Given the description of an element on the screen output the (x, y) to click on. 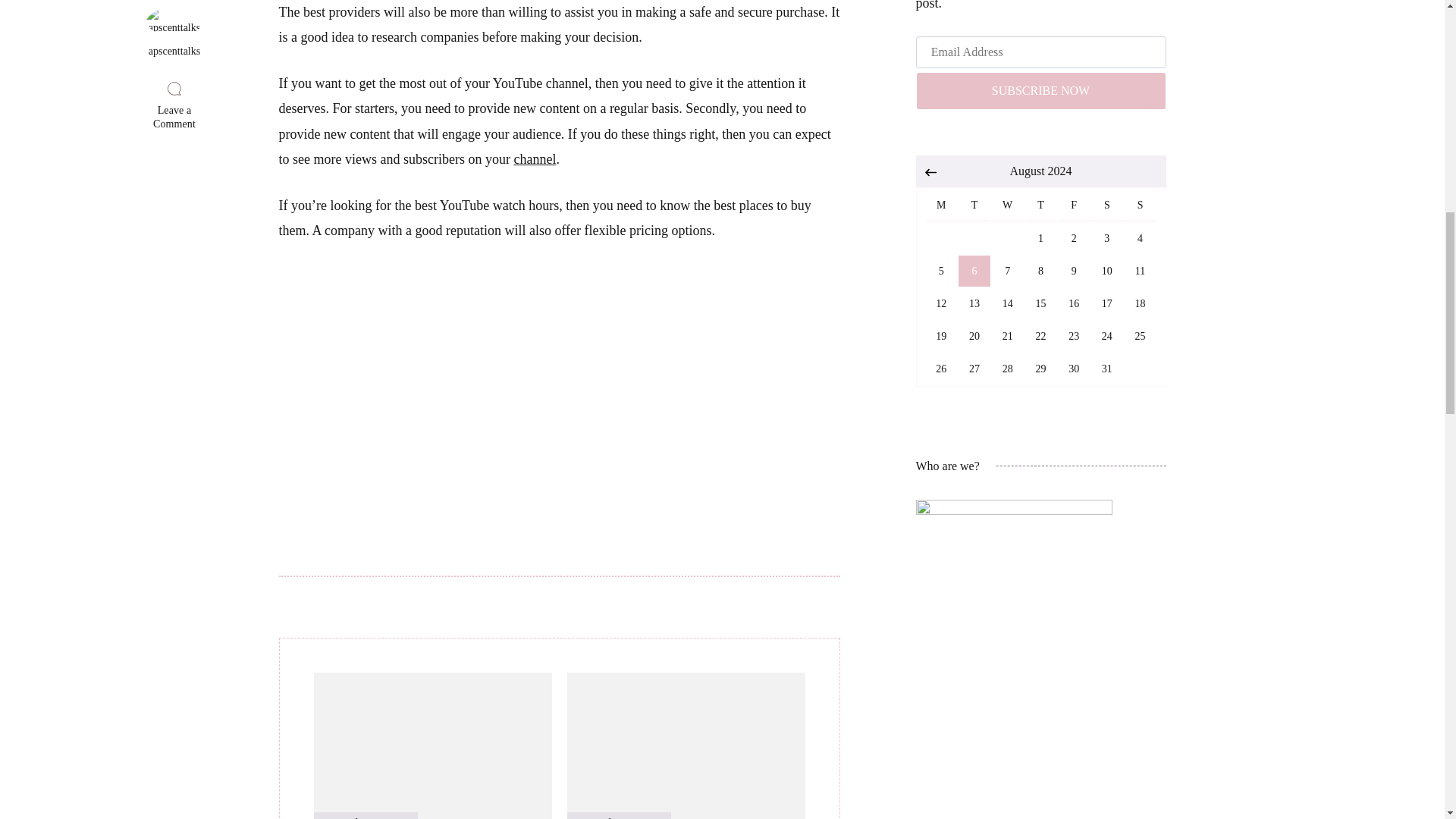
Thursday (1041, 205)
Friday (432, 745)
Wednesday (1073, 205)
Saturday (1007, 205)
channel (1106, 205)
Monday (534, 159)
SUBSCRIBE NOW (686, 745)
Tuesday (940, 205)
Sunday (1040, 90)
